Given the description of an element on the screen output the (x, y) to click on. 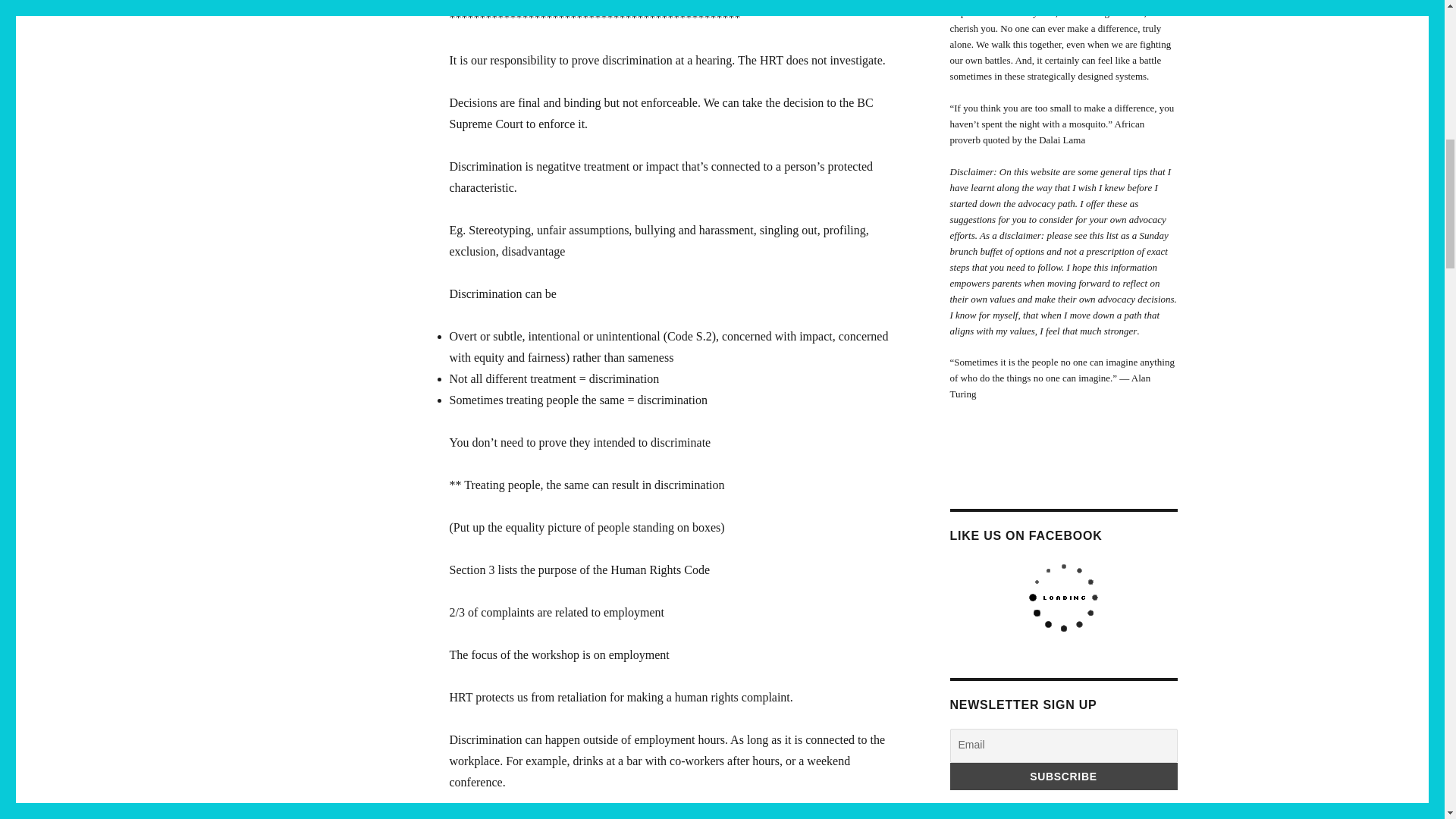
Subscribe (1062, 776)
